Given the description of an element on the screen output the (x, y) to click on. 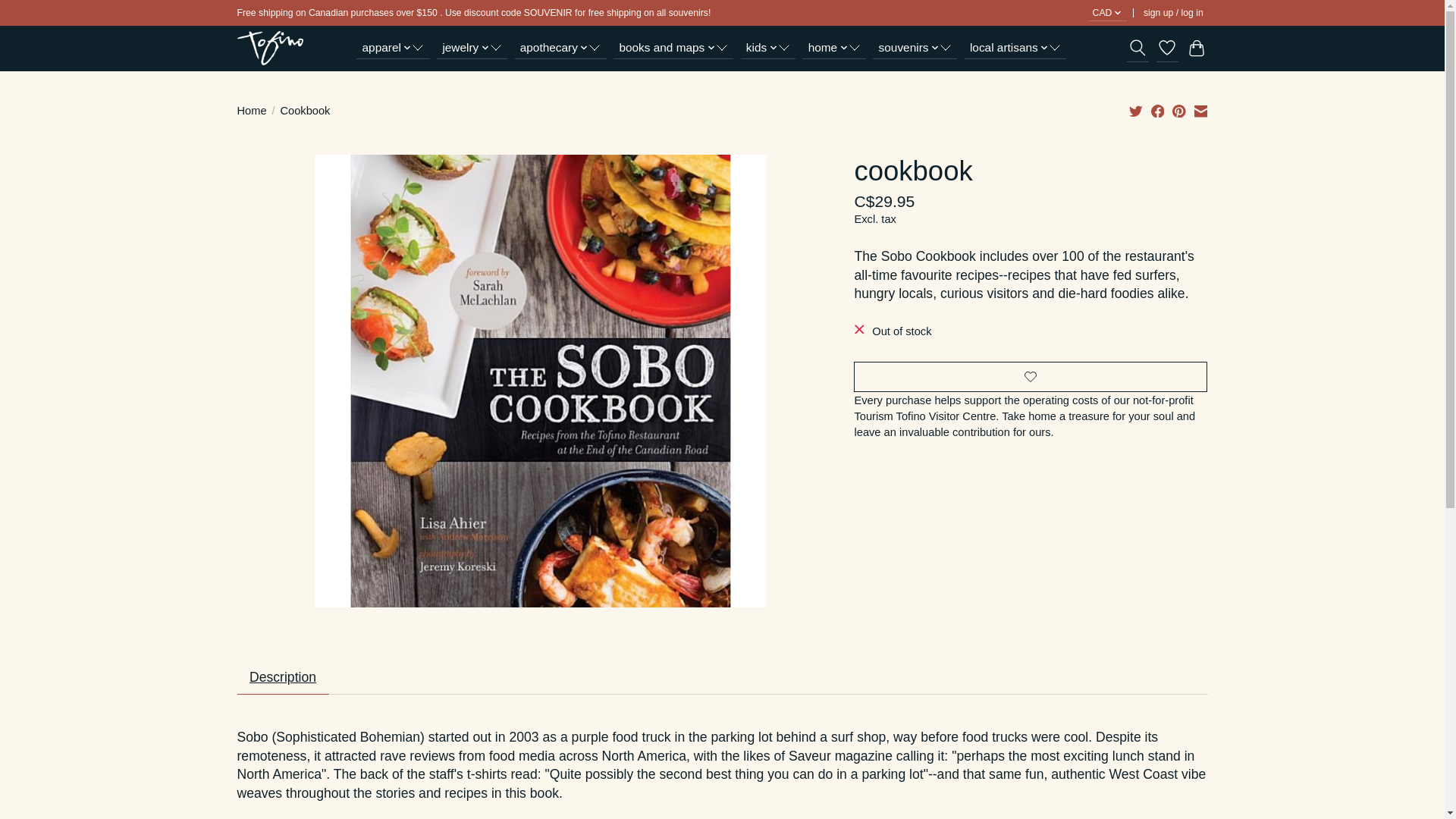
apparel (392, 47)
Tourism Tofino (268, 48)
jewelry (471, 47)
apothecary (561, 47)
My account (1172, 12)
CAD (1106, 12)
